Given the description of an element on the screen output the (x, y) to click on. 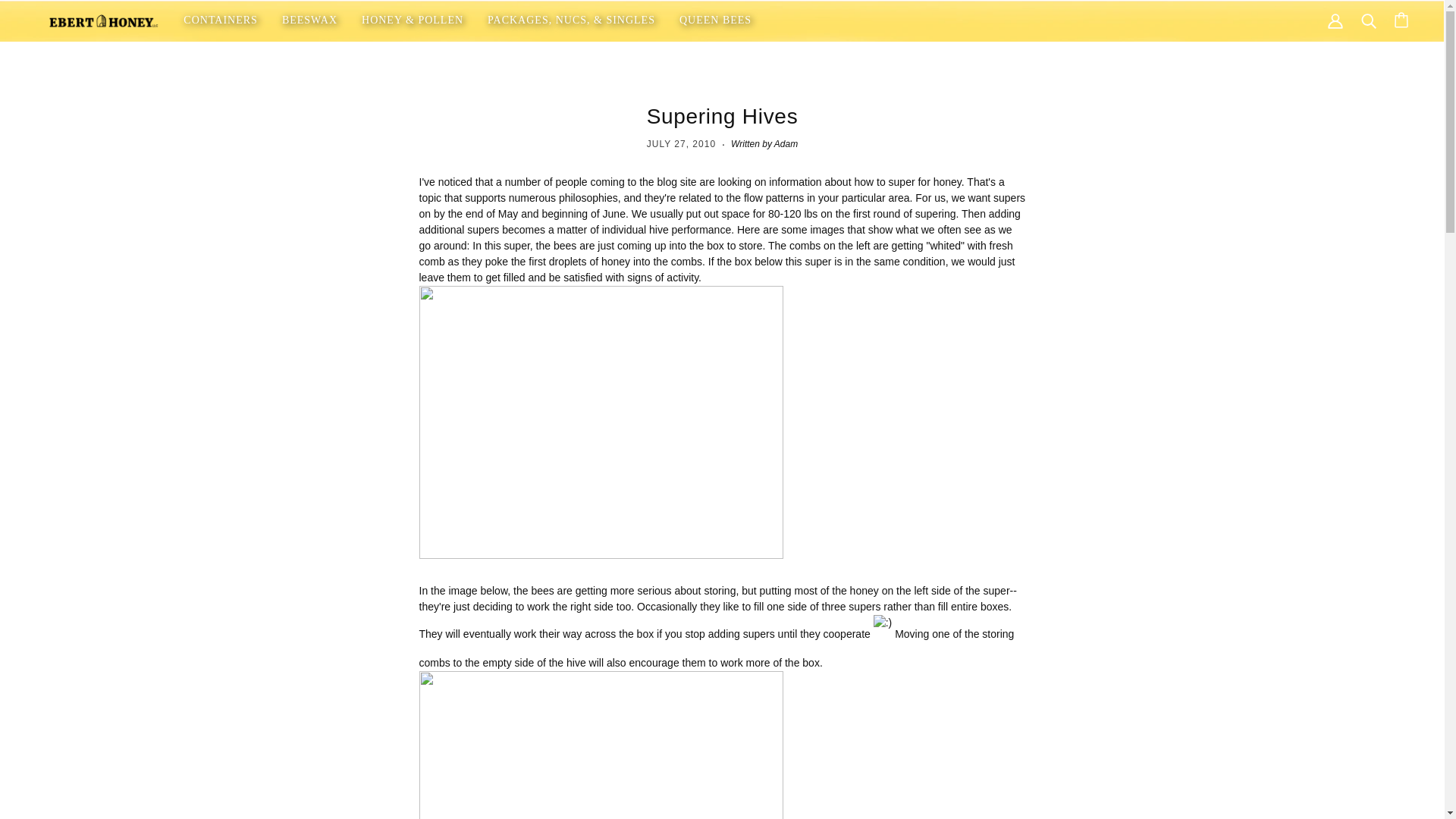
Ebert Honey Store (103, 19)
BEESWAX (309, 20)
QUEEN BEES (714, 20)
CONTAINERS (220, 20)
